Given the description of an element on the screen output the (x, y) to click on. 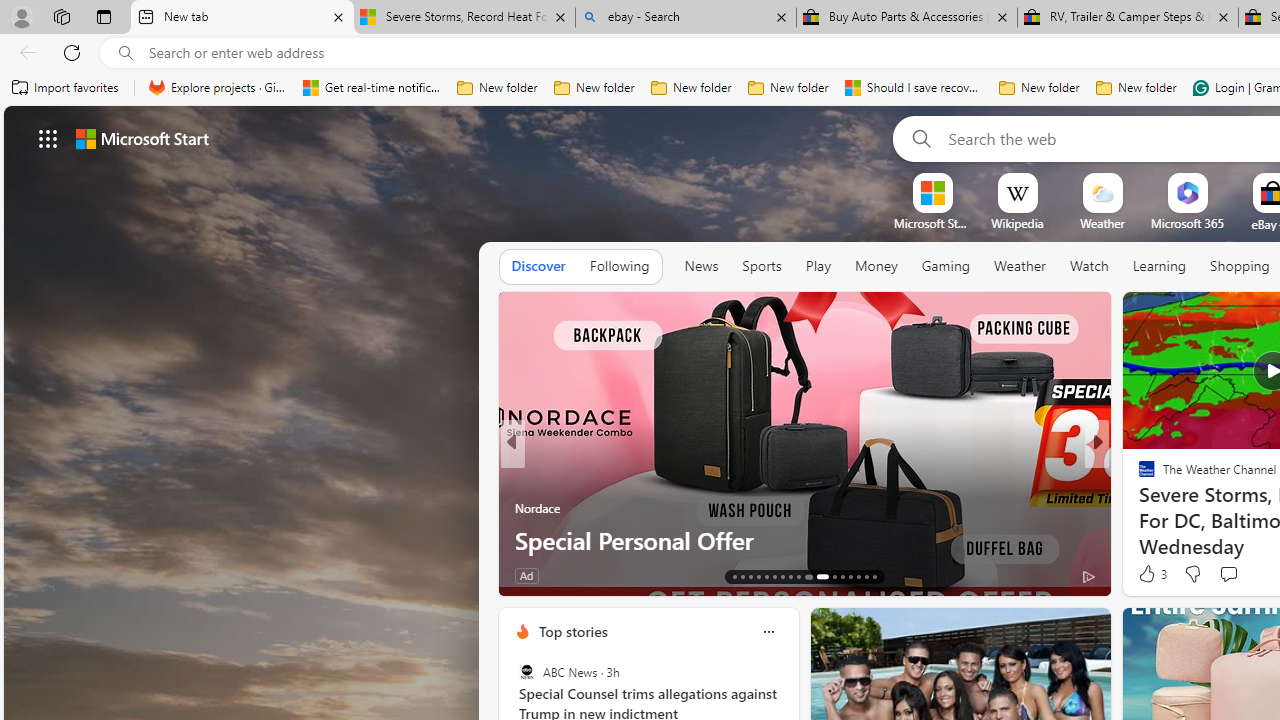
Microsoft Start Sports (932, 223)
AutomationID: tab-24 (833, 576)
Weather (1019, 267)
New tab (242, 17)
Start the conversation (1228, 573)
Dailymotion (1138, 507)
Import favorites (65, 88)
Nordace (537, 507)
AutomationID: tab-28 (865, 576)
News (701, 265)
Learning (1159, 265)
Play (817, 265)
Discover (538, 265)
